Given the description of an element on the screen output the (x, y) to click on. 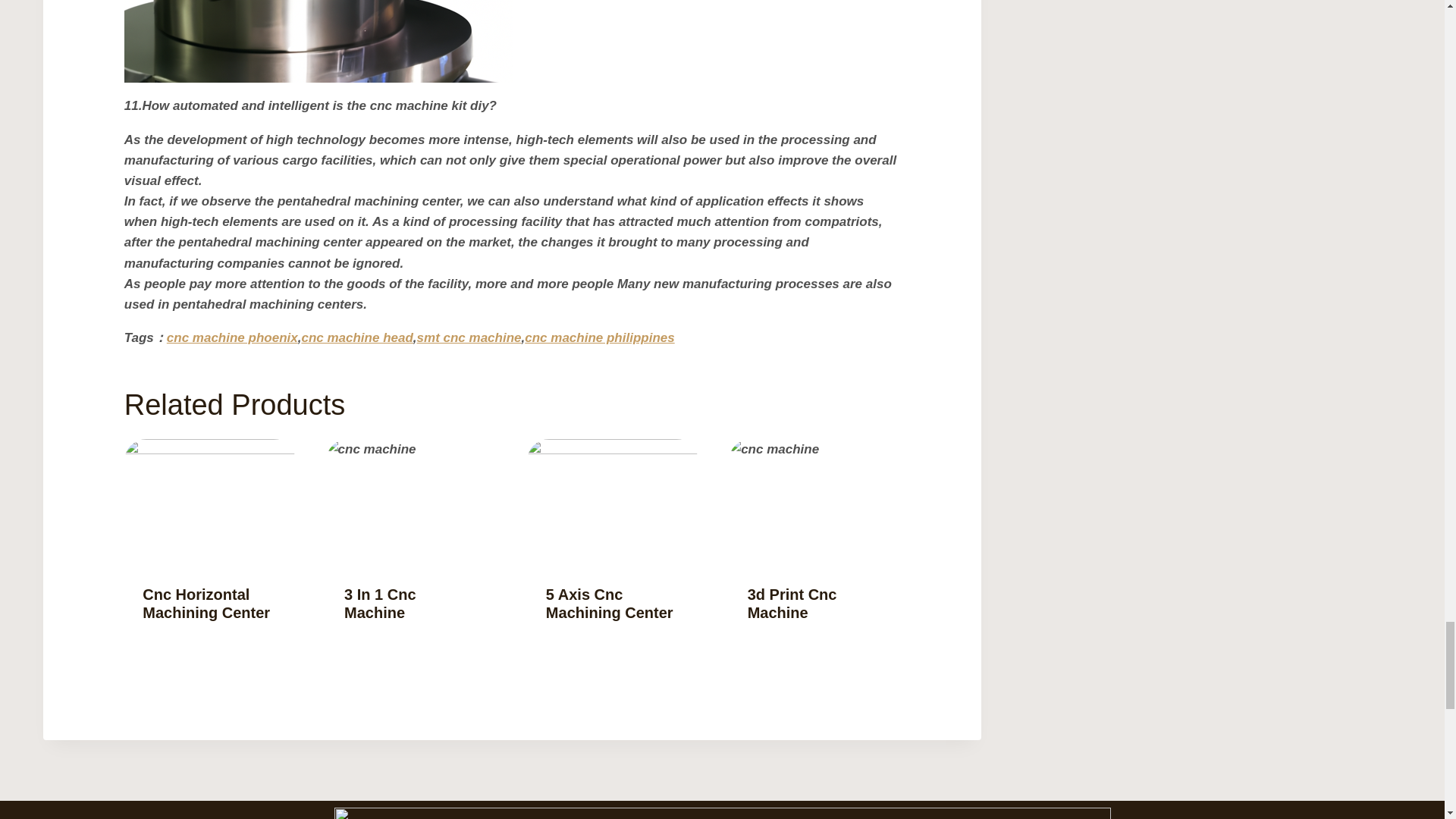
How fast does the cnc machine kit diy work? (317, 41)
